Given the description of an element on the screen output the (x, y) to click on. 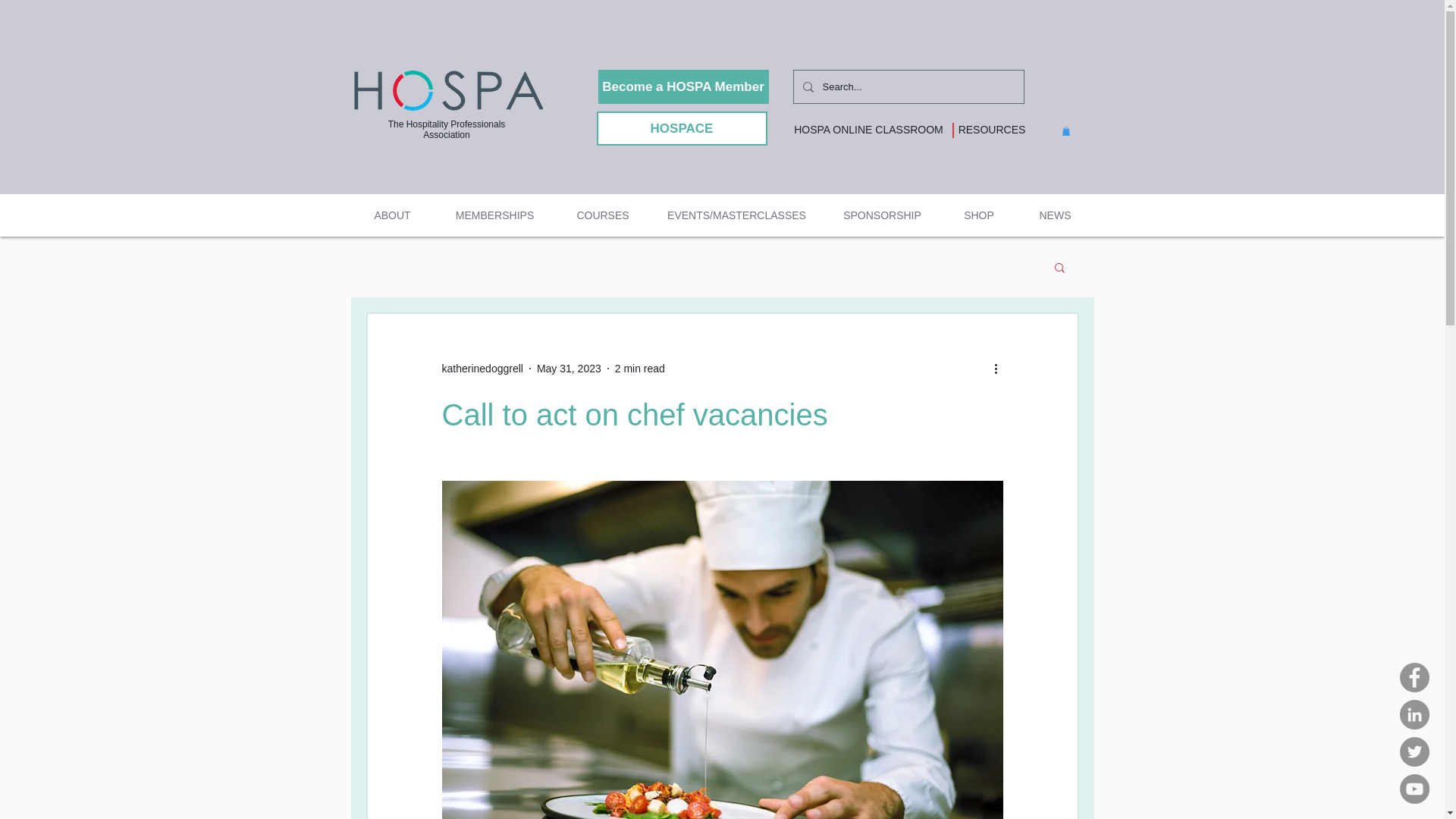
Become a HOSPA Member (682, 86)
katherinedoggrell (481, 368)
katherinedoggrell (481, 368)
2 min read (639, 368)
HOSPACE (681, 128)
MEMBERSHIPS (493, 215)
SPONSORSHIP (883, 215)
RESOURCES (992, 129)
May 31, 2023 (569, 368)
HOSPA ONLINE CLASSROOM (868, 129)
NEWS (1054, 215)
ABOUT (391, 215)
SHOP (979, 215)
COURSES (601, 215)
